Given the description of an element on the screen output the (x, y) to click on. 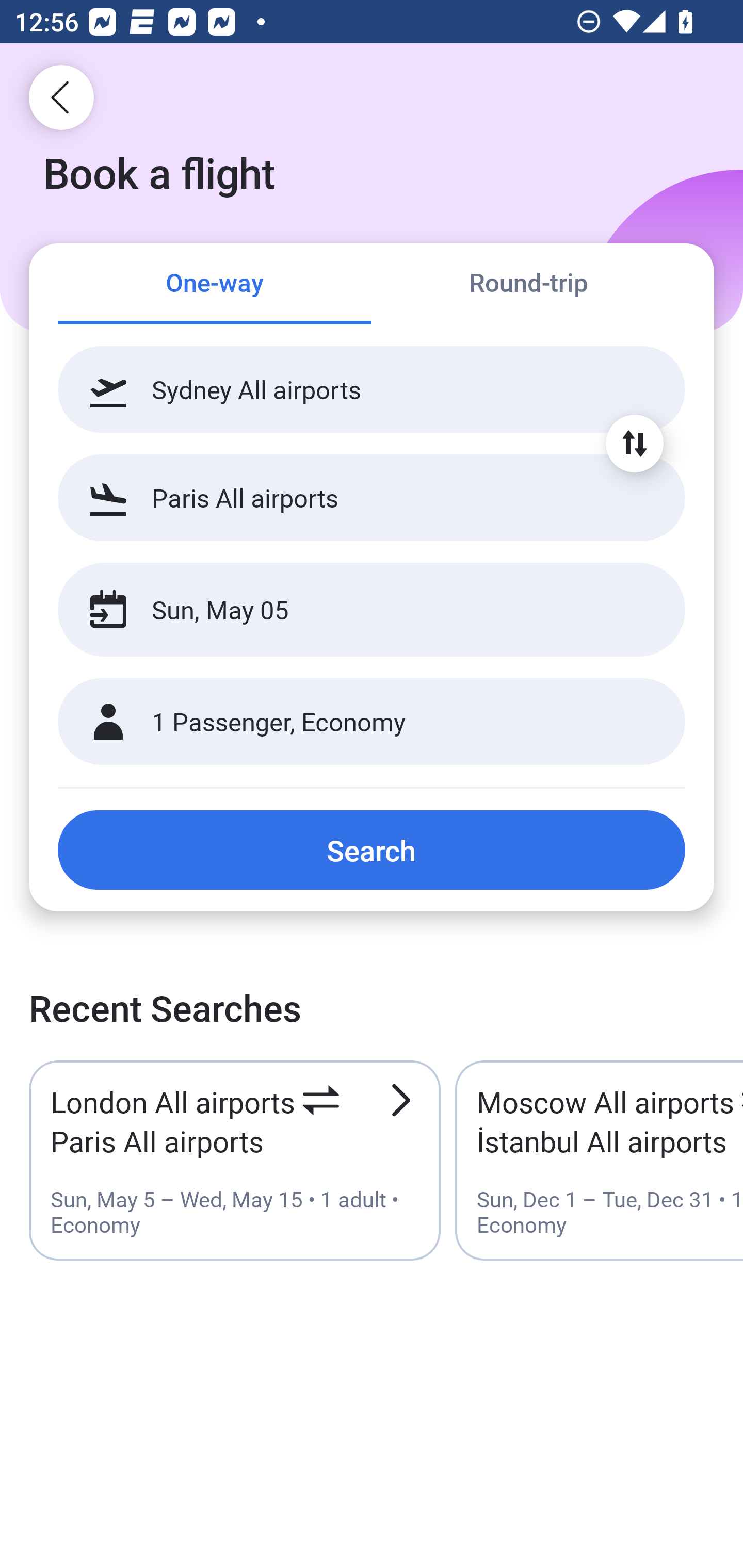
Round-trip (528, 284)
Sydney All airports (371, 389)
Paris All airports (371, 497)
Sun, May 05 (349, 609)
1 Passenger, Economy (371, 721)
Search (371, 849)
